Given the description of an element on the screen output the (x, y) to click on. 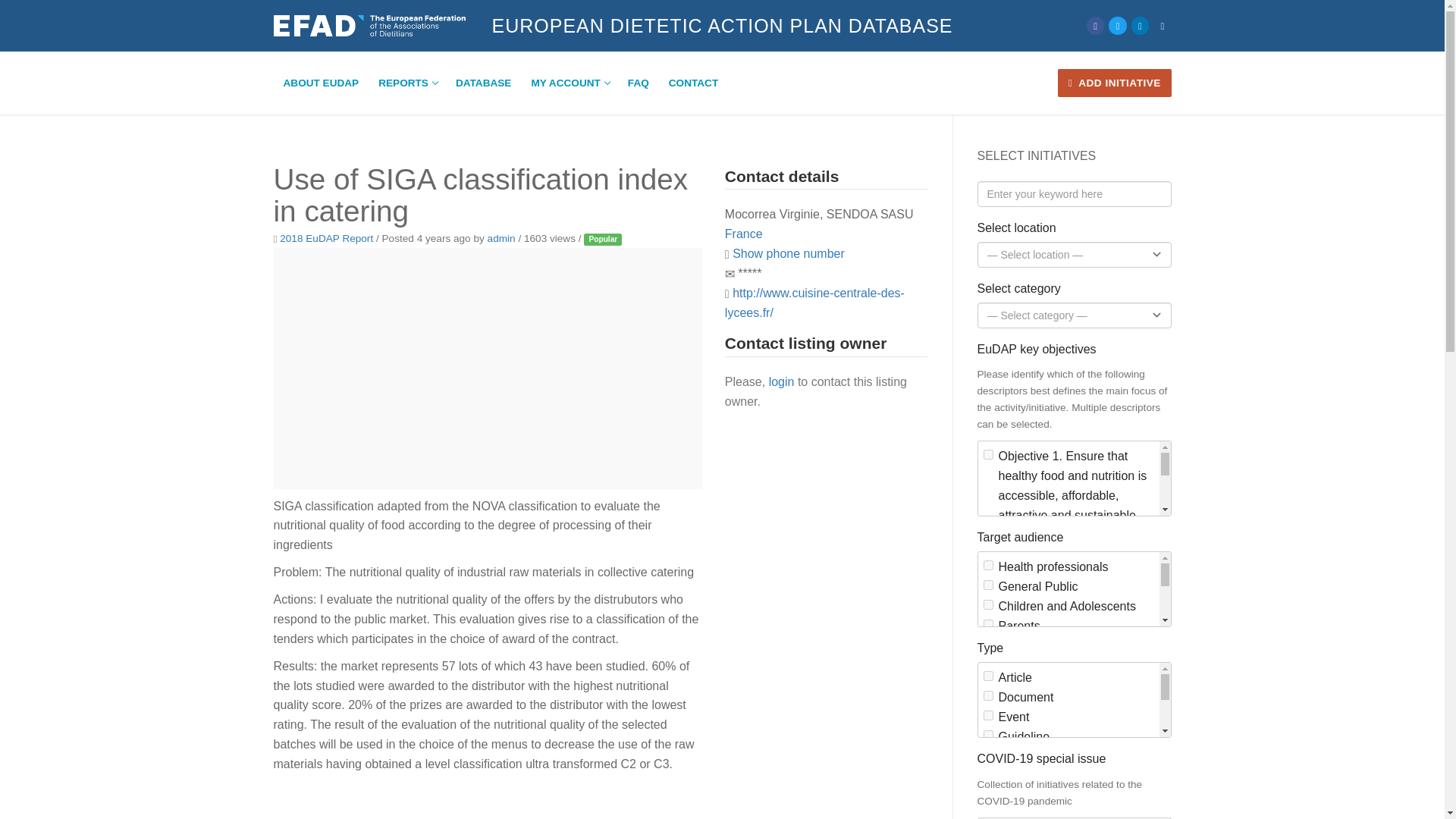
General Public (987, 584)
DATABASE (483, 82)
Objective 5. Strengthen governance, alliances and networks (987, 748)
Senior Citizens (406, 82)
LinkedIn (987, 664)
Children and Adolescents (1139, 26)
ADD INITIATIVE (987, 604)
